Given the description of an element on the screen output the (x, y) to click on. 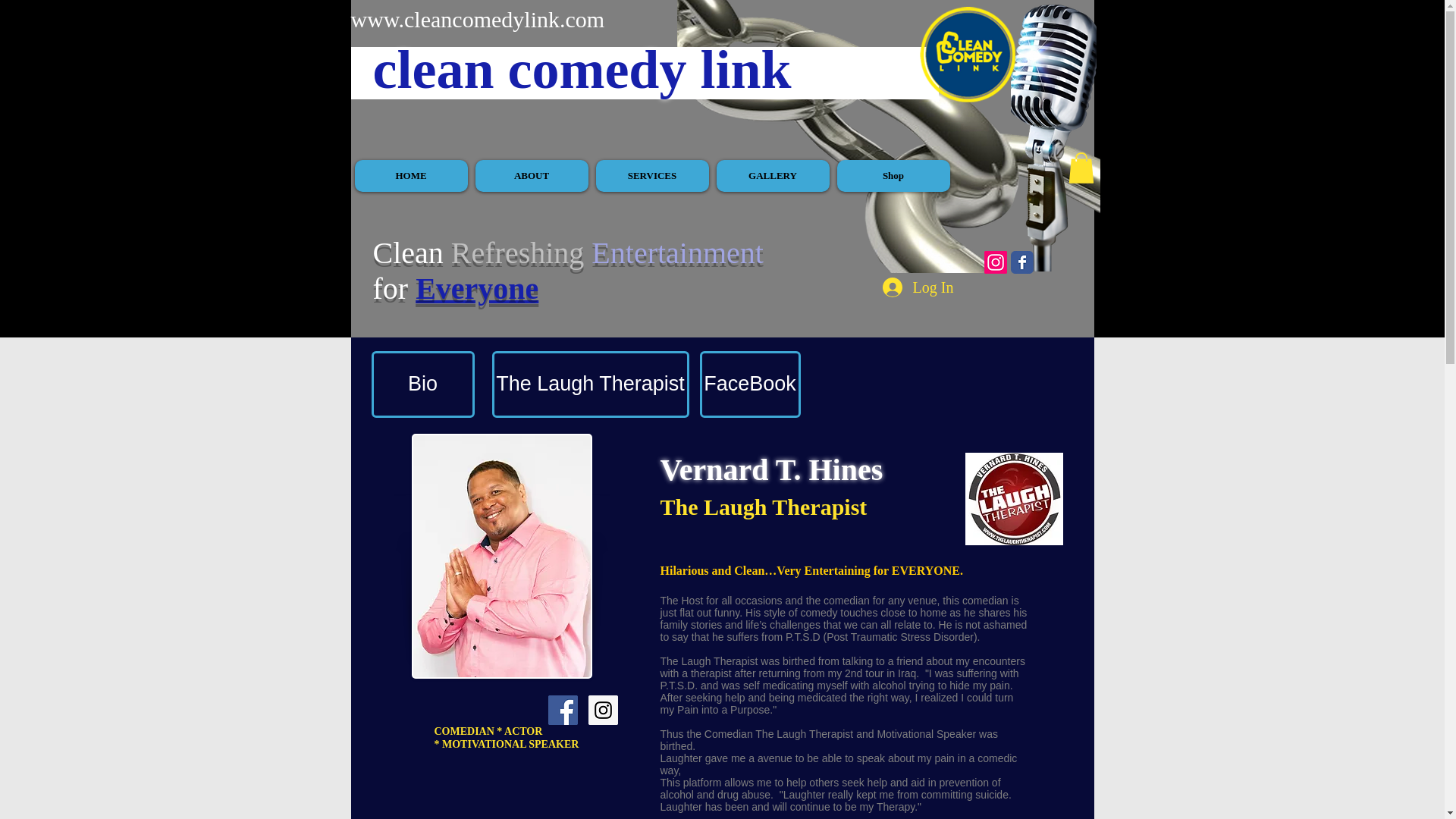
GALLERY (772, 175)
HOME (411, 175)
Log In (917, 286)
FaceBook (748, 384)
ABOUT (531, 175)
Bio (422, 384)
Shop (893, 175)
SERVICES (652, 175)
www.cleancomedylink.com (477, 18)
The Laugh Therapist (590, 384)
